Given the description of an element on the screen output the (x, y) to click on. 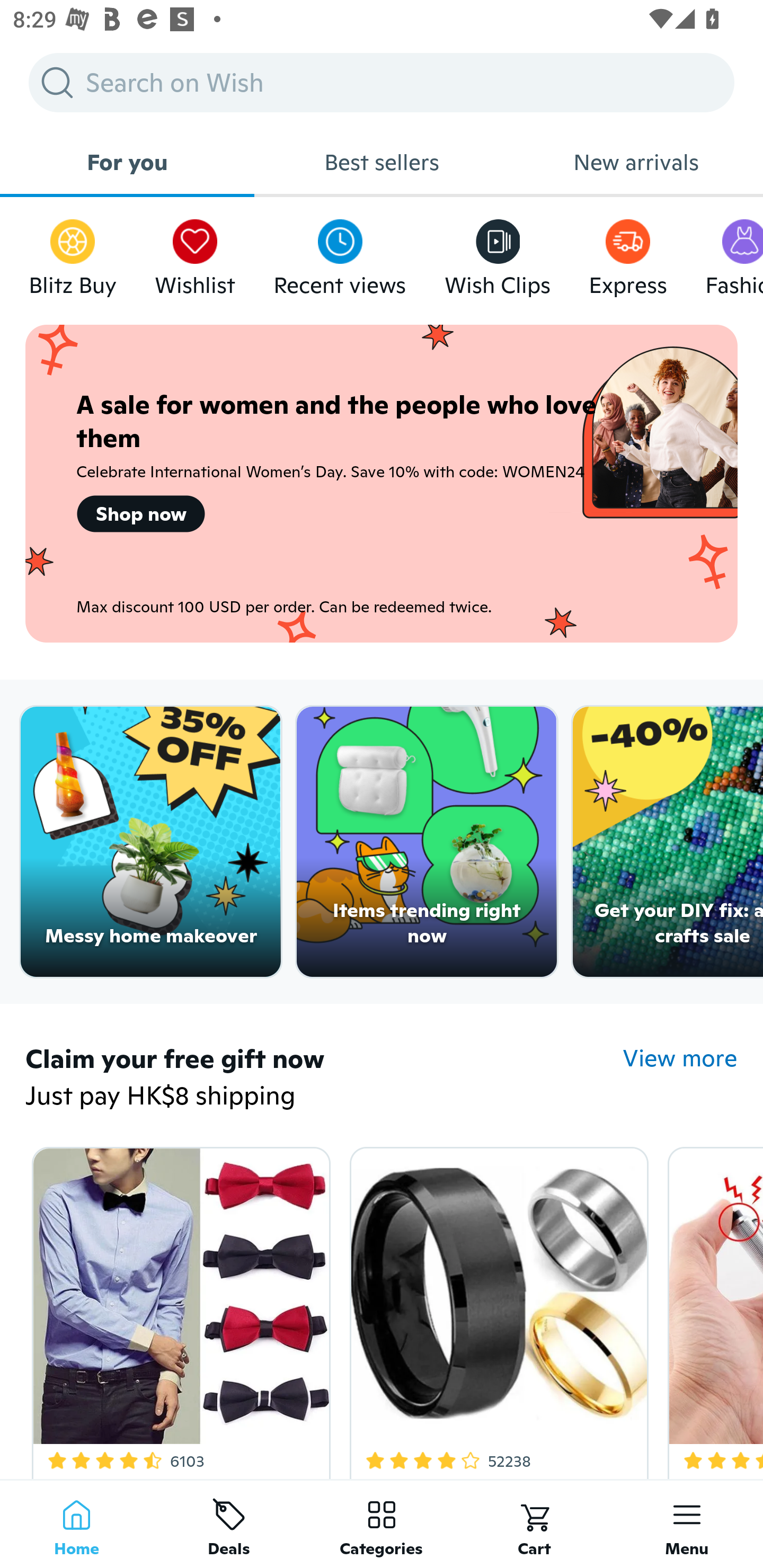
Search on Wish (381, 82)
For you (127, 161)
Best sellers (381, 161)
New arrivals (635, 161)
Blitz Buy (72, 252)
Wishlist (194, 252)
Recent views (339, 252)
Wish Clips (497, 252)
Express (627, 252)
Fashion (734, 252)
Messy home makeover (150, 841)
Items trending right now (426, 841)
Get your DIY fix: arts & crafts sale (668, 841)
Claim your free gift now
Just pay HK$8 shipping (323, 1078)
View more (679, 1058)
4.4 Star Rating 6103 Free (177, 1308)
4.2 Star Rating 52238 Free (495, 1308)
Home (76, 1523)
Deals (228, 1523)
Categories (381, 1523)
Cart (533, 1523)
Menu (686, 1523)
